Given the description of an element on the screen output the (x, y) to click on. 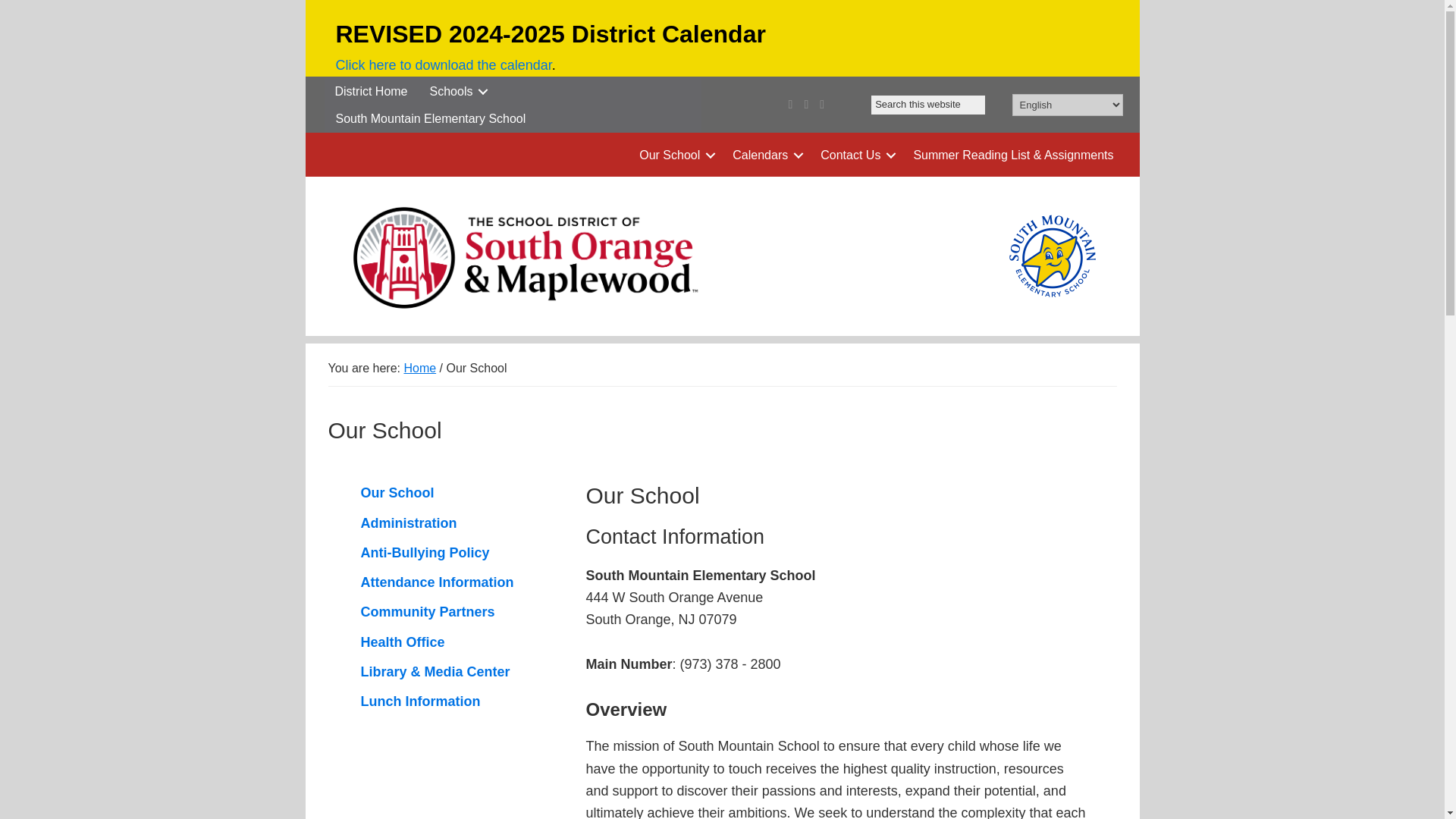
Contact Us (855, 154)
District Home (371, 91)
South Mountain Elementary School (429, 118)
Schools (457, 91)
Calendars (765, 154)
Our School (674, 154)
